Given the description of an element on the screen output the (x, y) to click on. 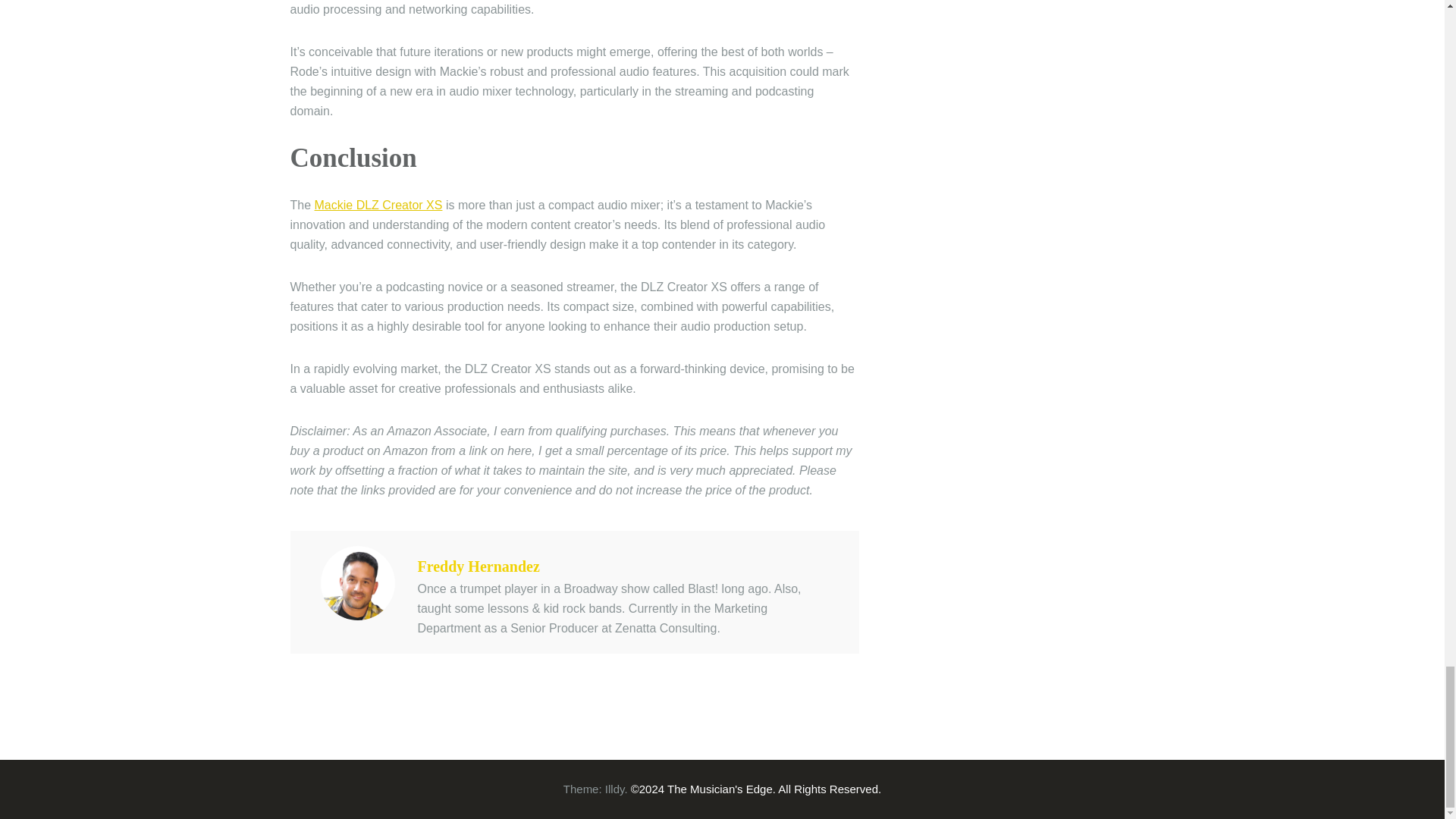
Illdy (614, 788)
Mackie DLZ Creator XS (378, 205)
Illdy (614, 788)
